Given the description of an element on the screen output the (x, y) to click on. 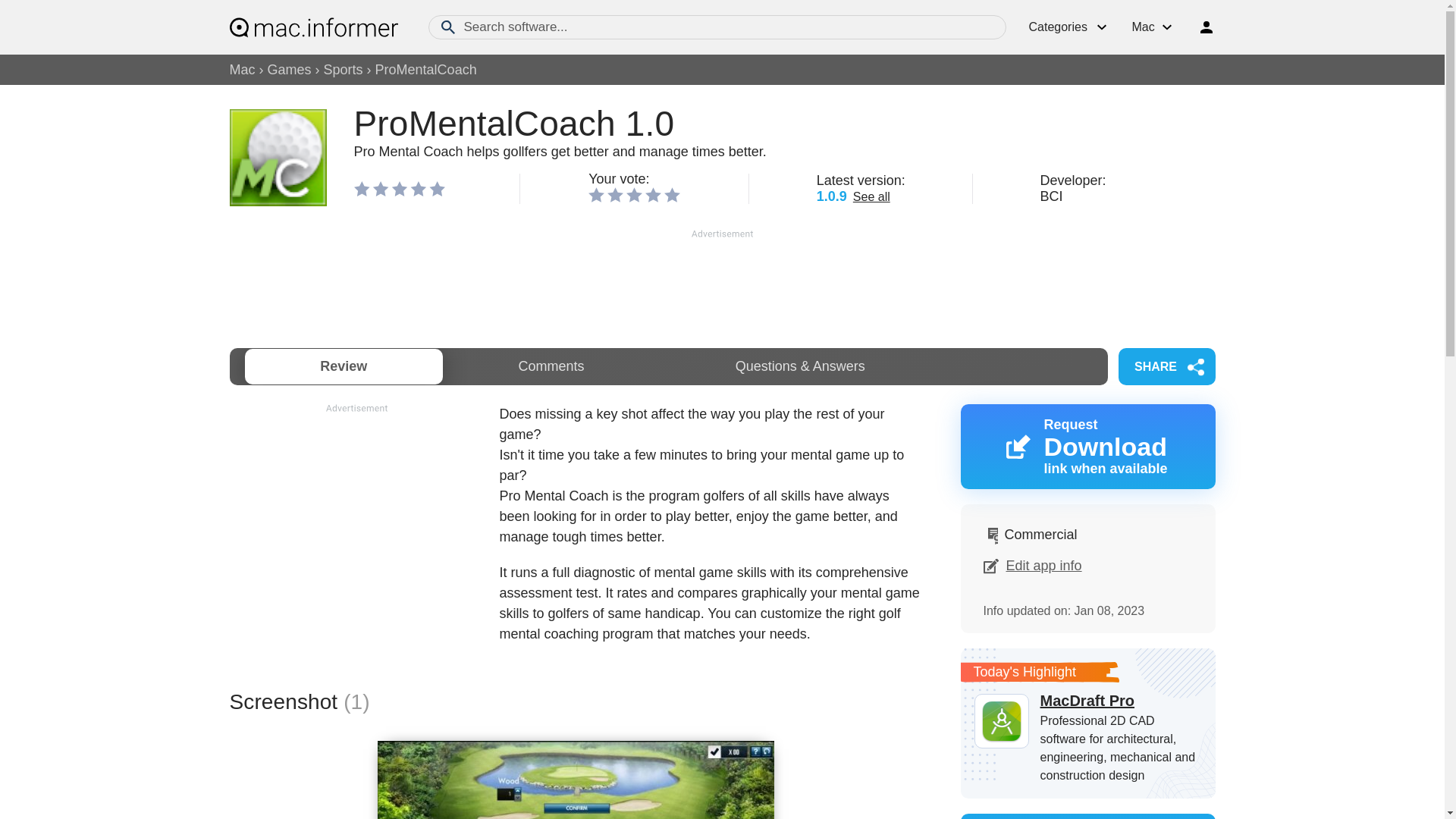
3 (633, 193)
Review (343, 366)
Advertisement (355, 522)
Search (447, 27)
See all (871, 195)
2 (614, 193)
1 (595, 193)
Review (343, 366)
Comments (550, 366)
SHARE (1166, 366)
4 (652, 193)
Mac (241, 69)
5 (671, 193)
